Given the description of an element on the screen output the (x, y) to click on. 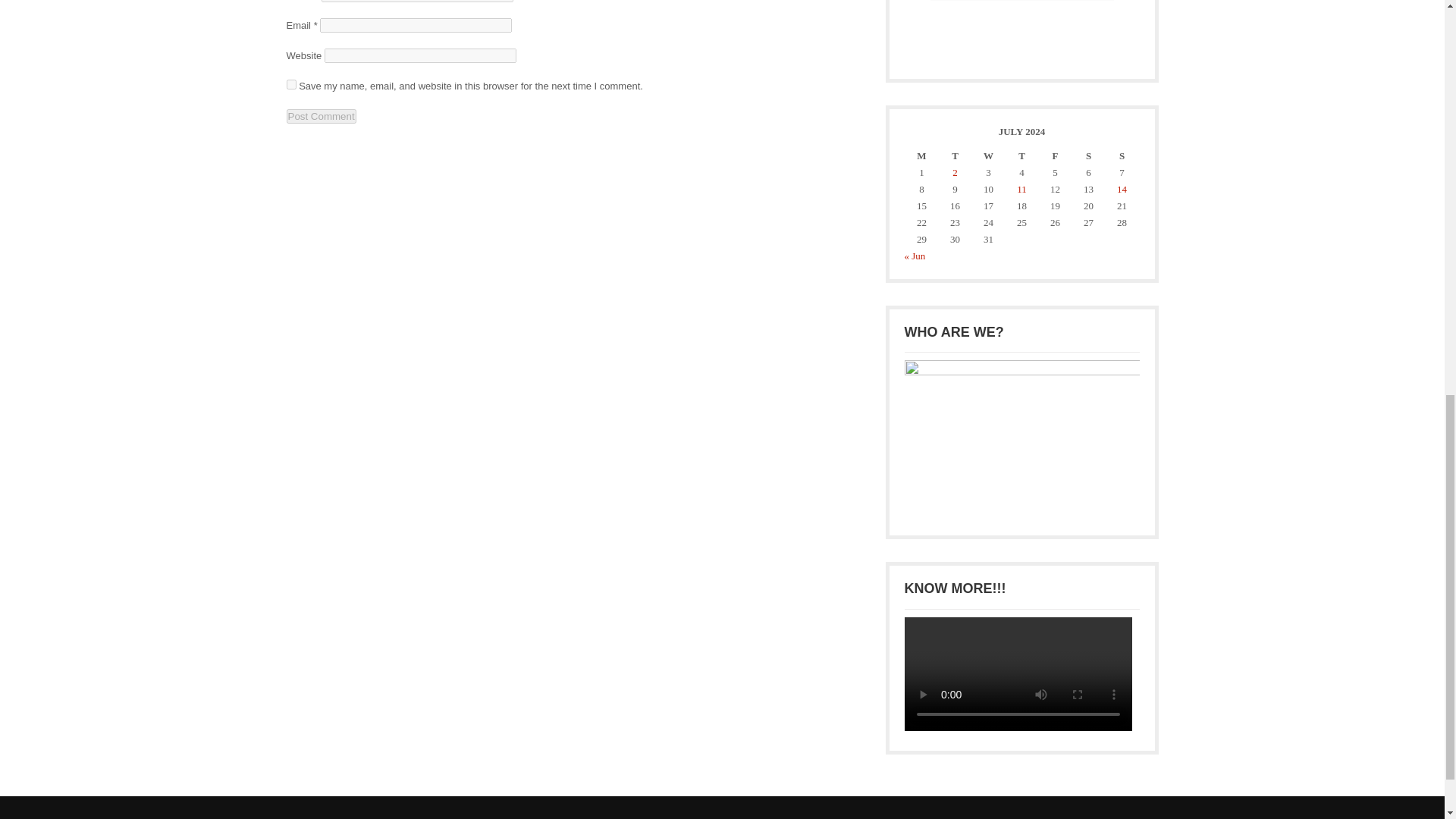
Wednesday (988, 155)
Saturday (1087, 155)
11 (1021, 188)
Post Comment (321, 115)
Tuesday (955, 155)
Monday (921, 155)
Friday (1054, 155)
yes (291, 84)
Post Comment (321, 115)
Thursday (1021, 155)
14 (1121, 188)
2 (955, 172)
Sunday (1121, 155)
